Given the description of an element on the screen output the (x, y) to click on. 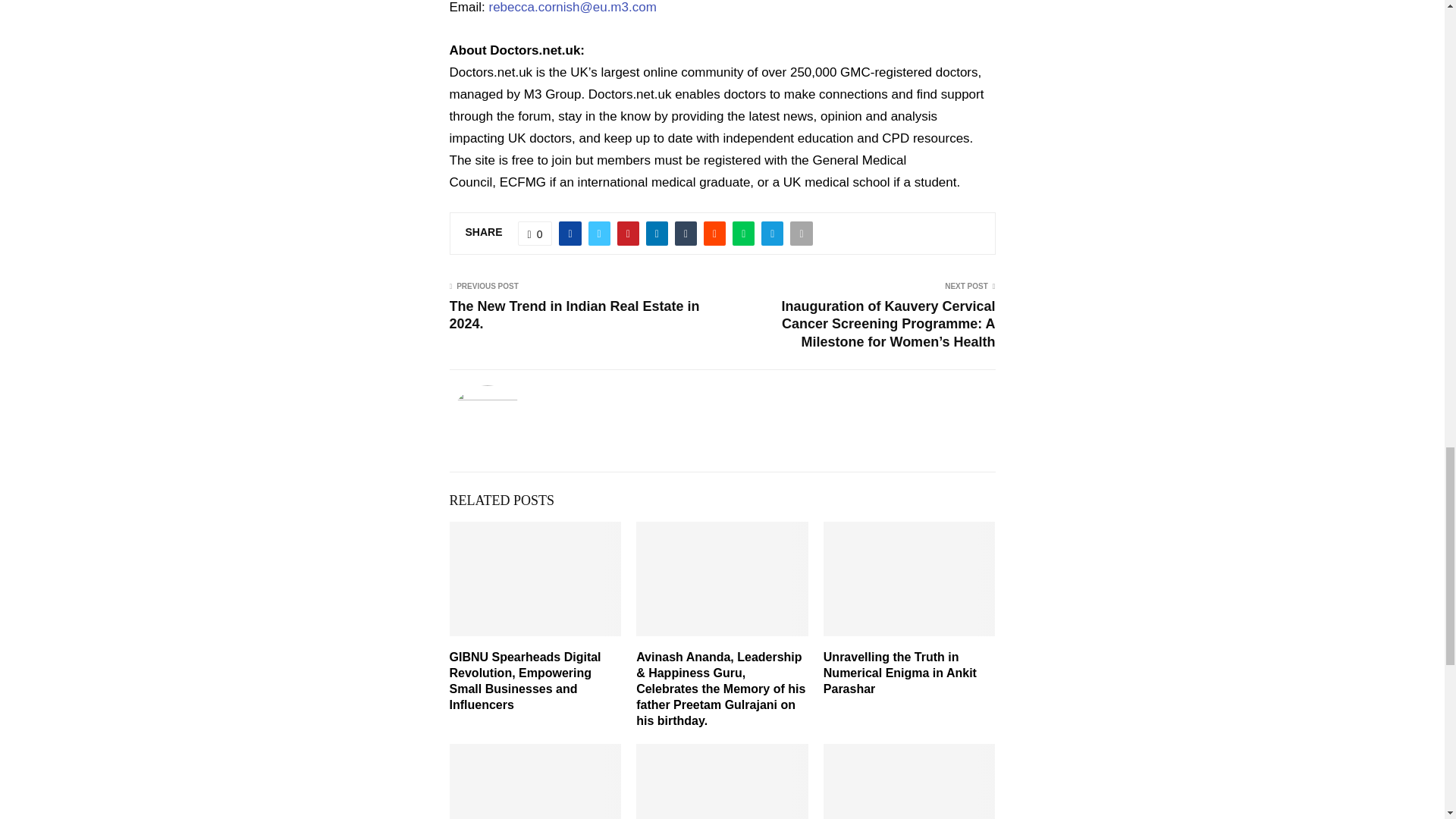
Like (535, 233)
